Given the description of an element on the screen output the (x, y) to click on. 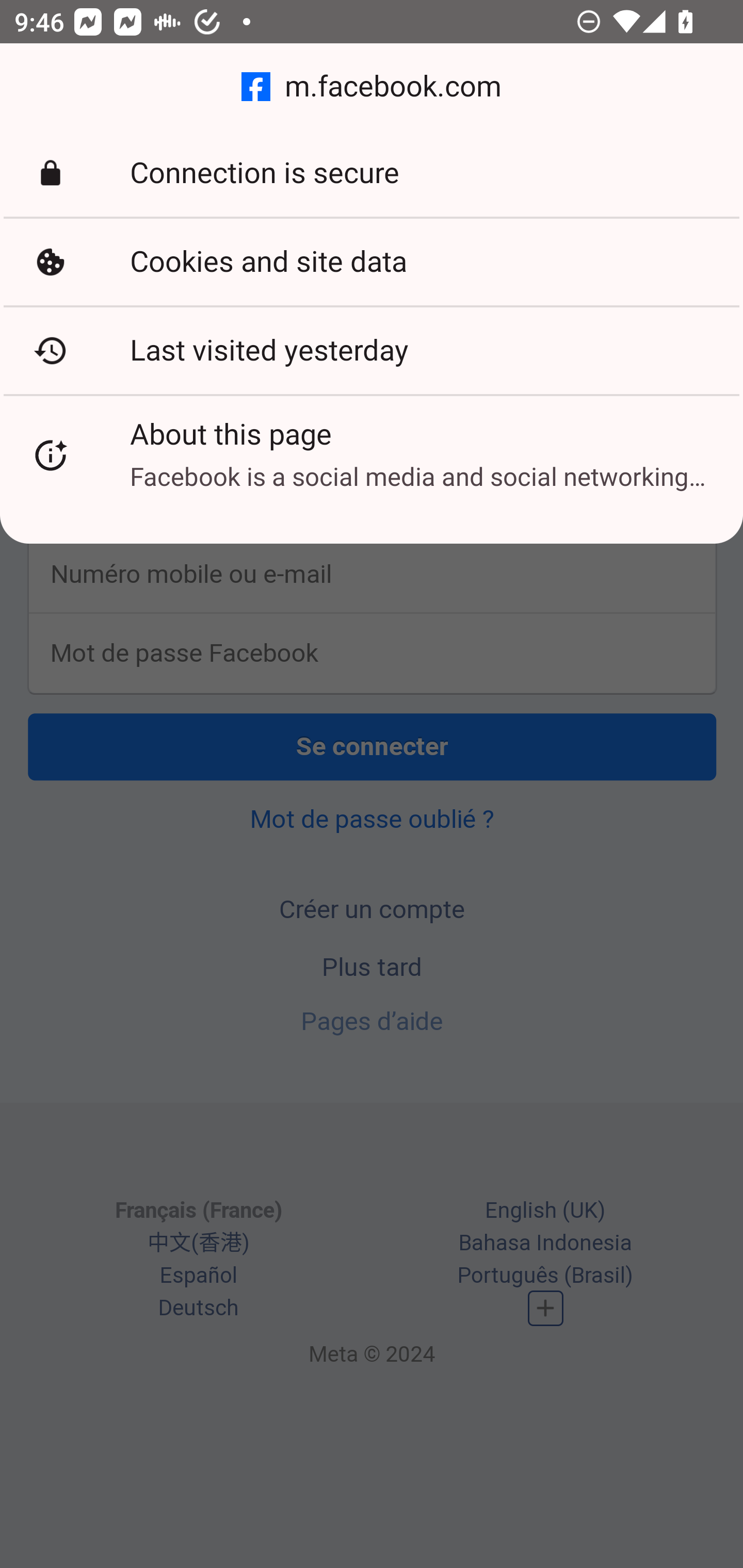
m.facebook.com (371, 86)
Connection is secure (371, 173)
Cookies and site data (371, 261)
Last visited yesterday (371, 350)
